Given the description of an element on the screen output the (x, y) to click on. 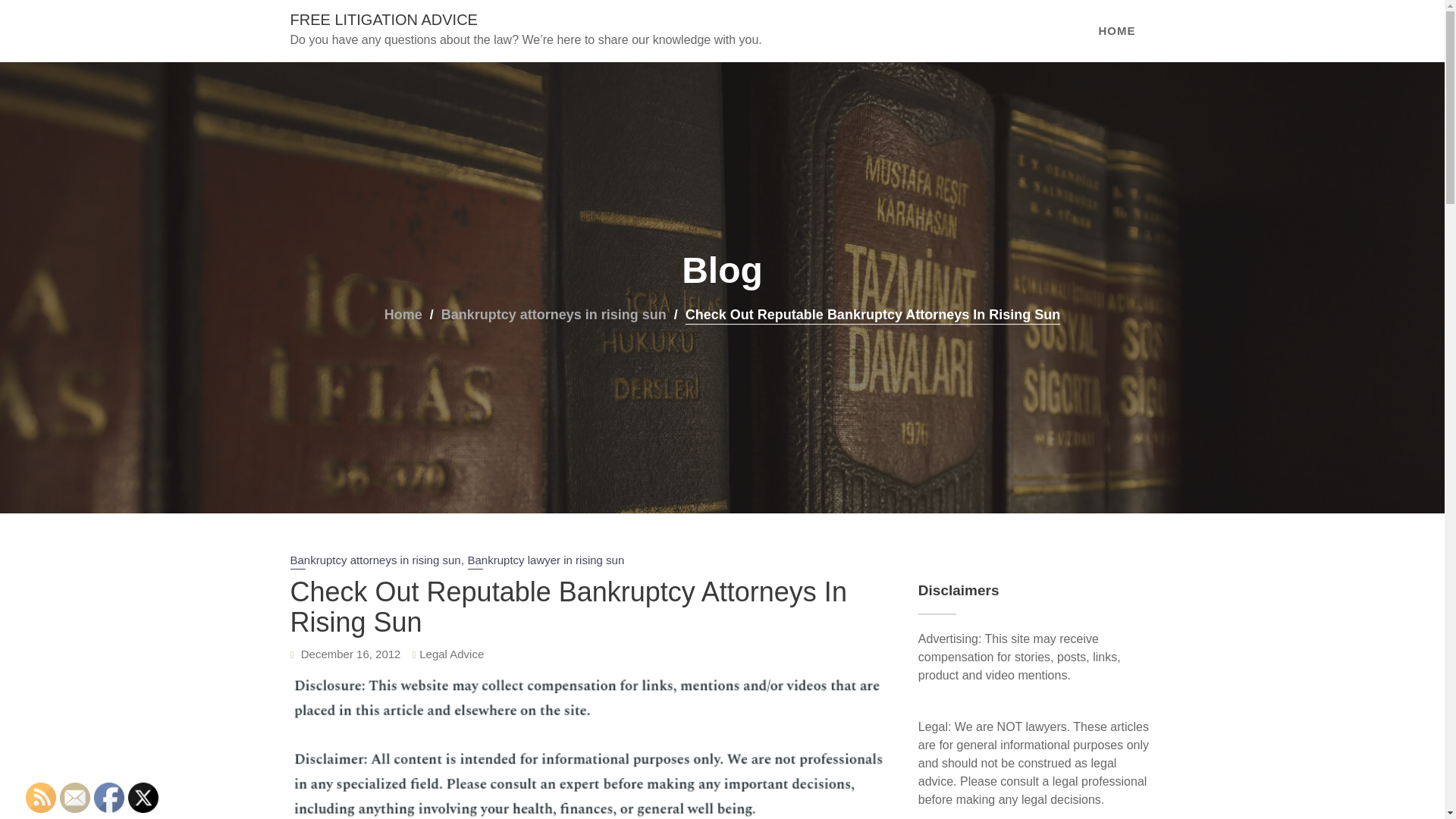
Bankruptcy attorneys in rising sun (553, 315)
Follow by Email (74, 797)
RSS (41, 797)
Home (403, 315)
Bankruptcy attorneys in rising sun (374, 561)
December 16, 2012 (351, 653)
Bankruptcy lawyer in rising sun (545, 561)
Free Litigation Advice (383, 19)
FREE LITIGATION ADVICE (383, 19)
Legal Advice (451, 653)
